Given the description of an element on the screen output the (x, y) to click on. 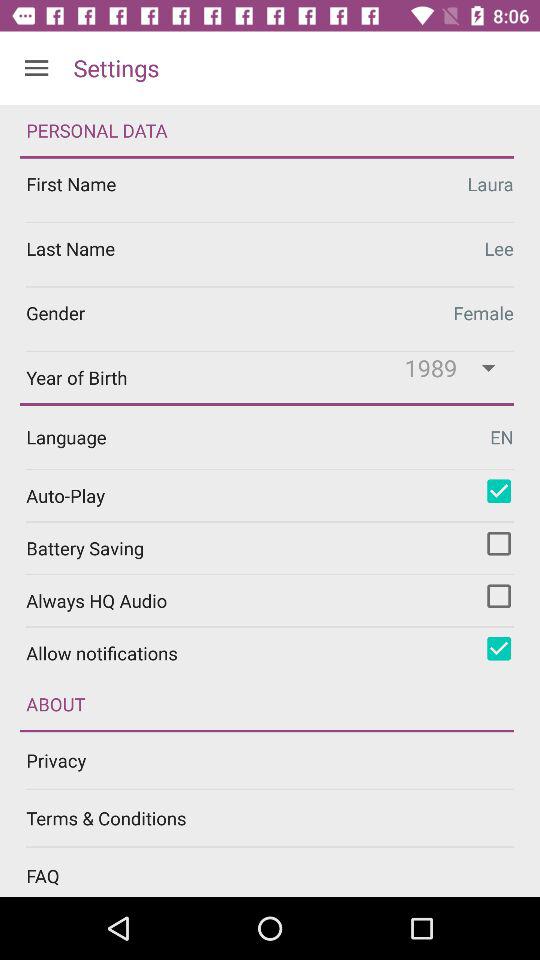
toggle auto-play setting (499, 491)
